Given the description of an element on the screen output the (x, y) to click on. 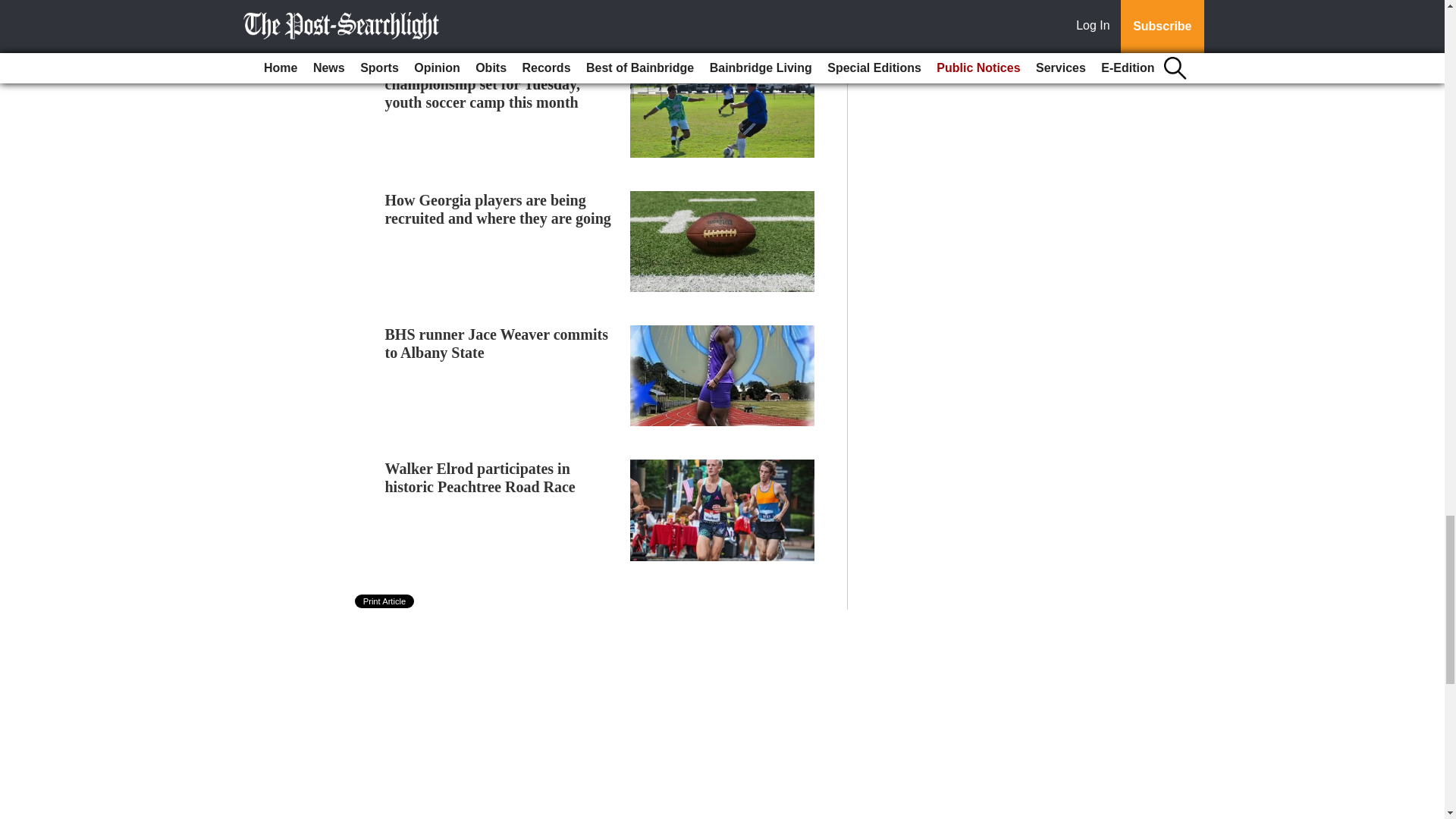
BHS runner Jace Weaver commits to Albany State (496, 343)
Walker Elrod participates in historic Peachtree Road Race (480, 477)
